Given the description of an element on the screen output the (x, y) to click on. 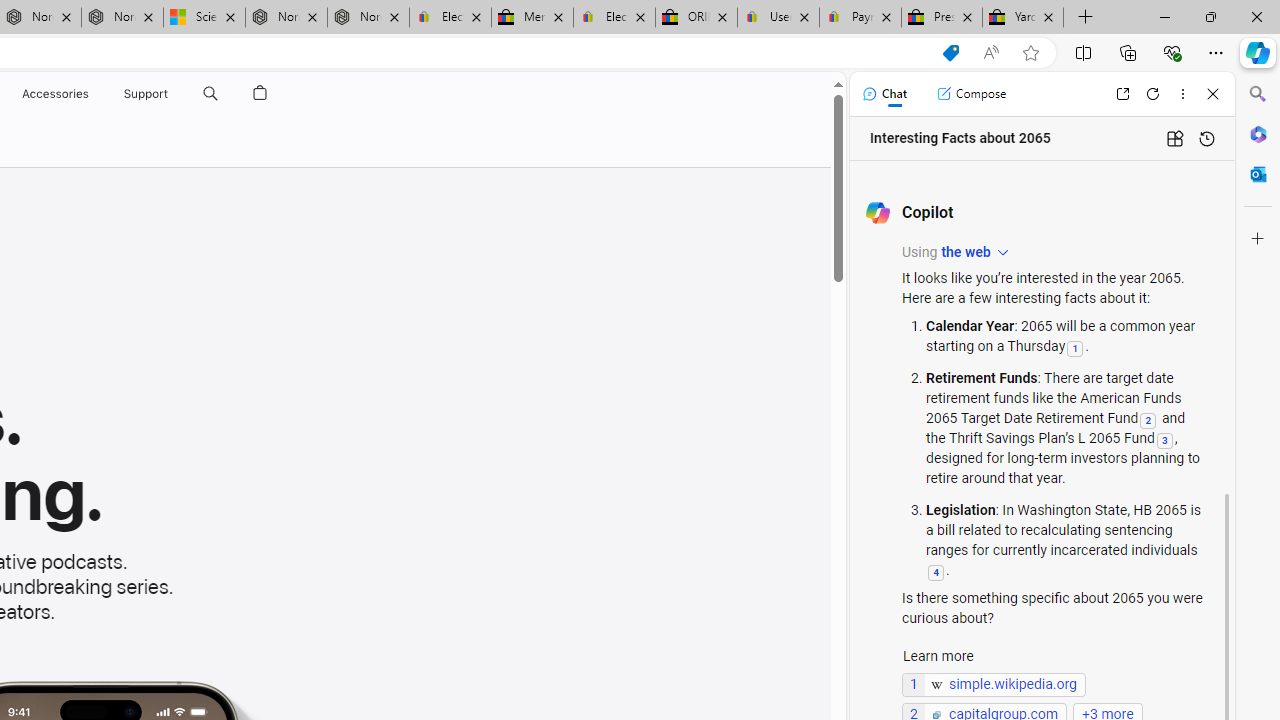
Shopping in Microsoft Edge (950, 53)
Nordace - FAQ (368, 17)
Chat (884, 93)
Press Room - eBay Inc. (941, 17)
Support menu (172, 93)
Open link in new tab (1122, 93)
Compose (971, 93)
Support (146, 93)
